Given the description of an element on the screen output the (x, y) to click on. 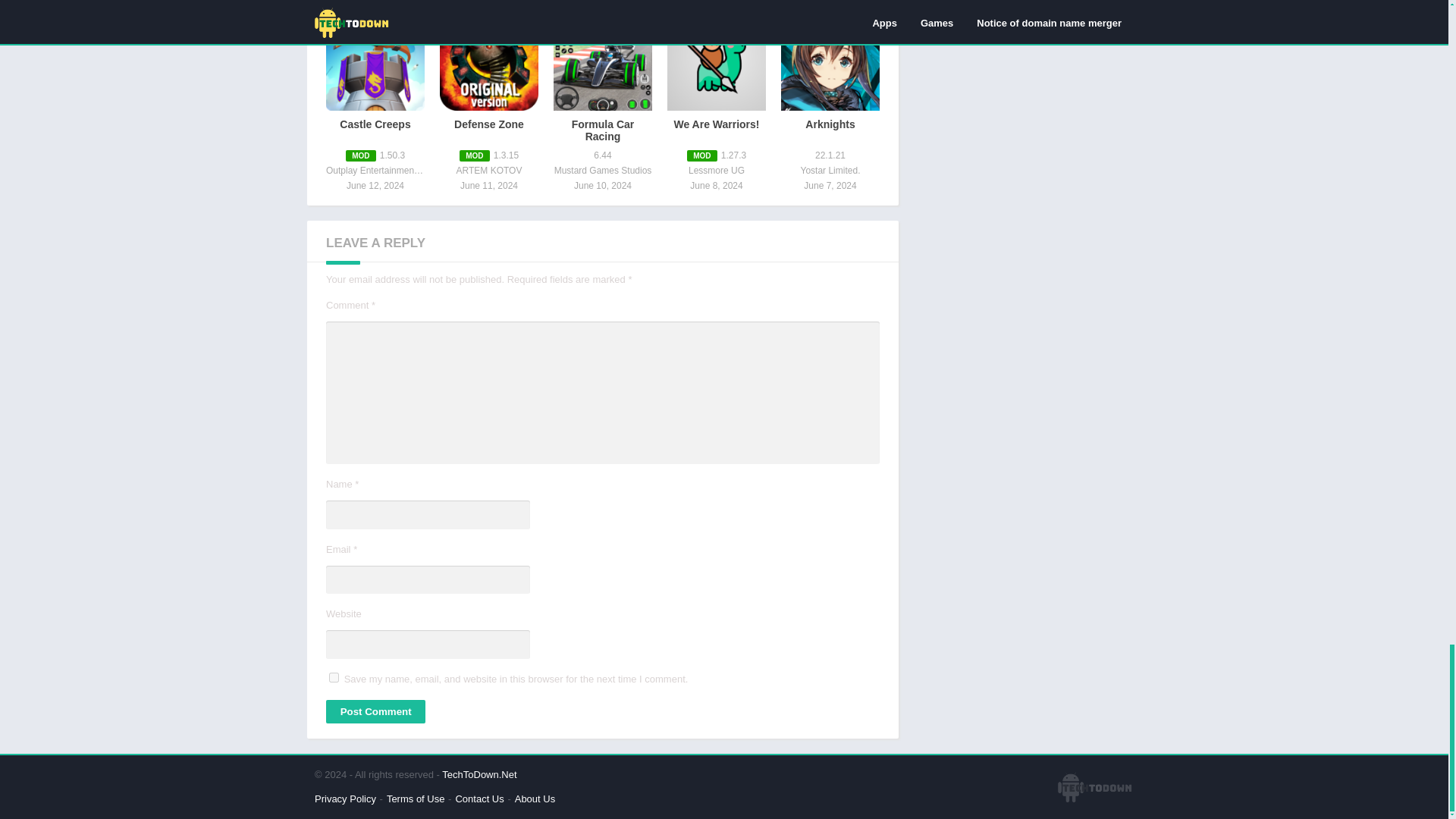
yes (334, 677)
Post Comment (375, 711)
Post Comment (375, 711)
